Given the description of an element on the screen output the (x, y) to click on. 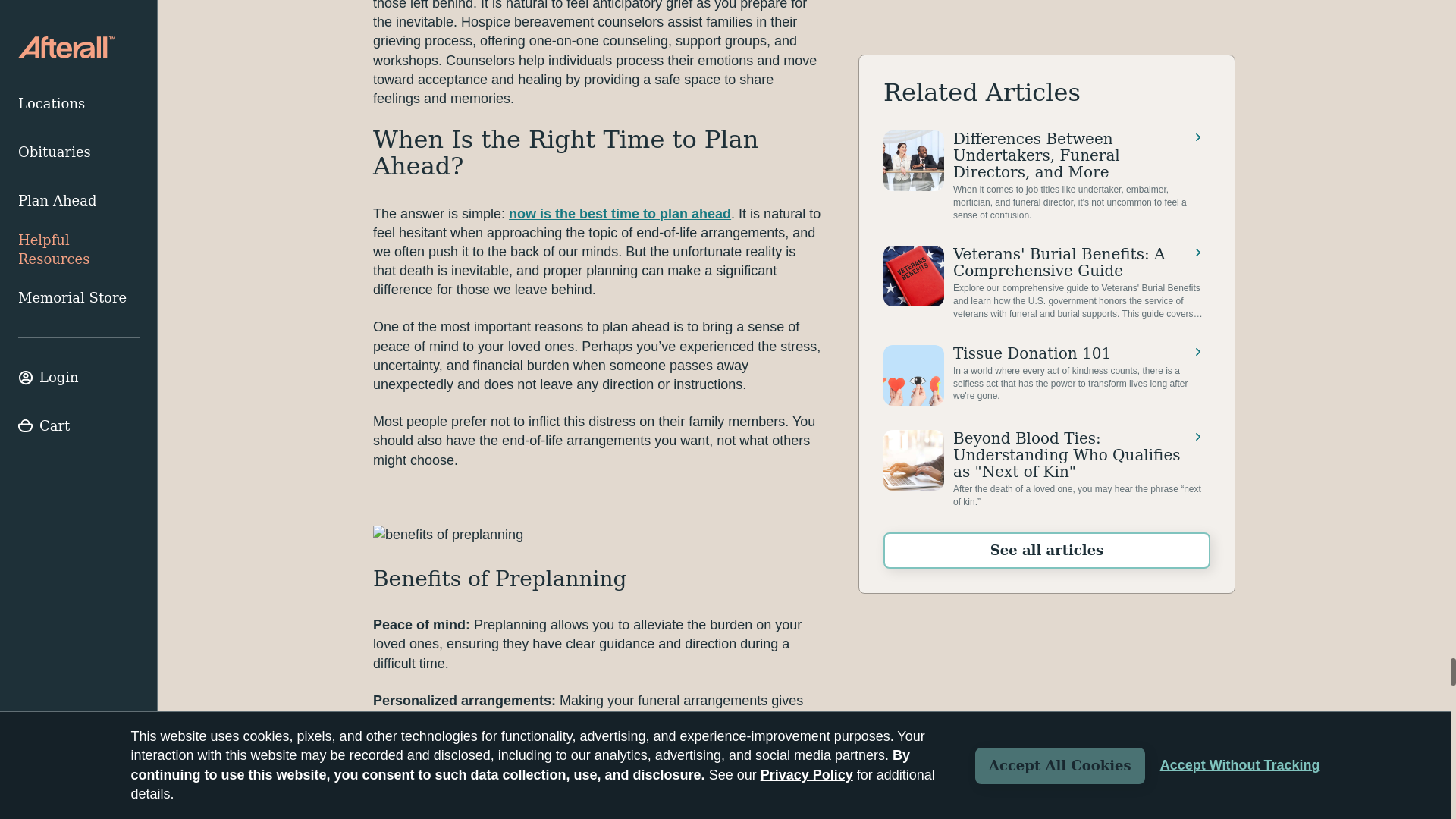
now is the best time to plan ahead (619, 213)
